Given the description of an element on the screen output the (x, y) to click on. 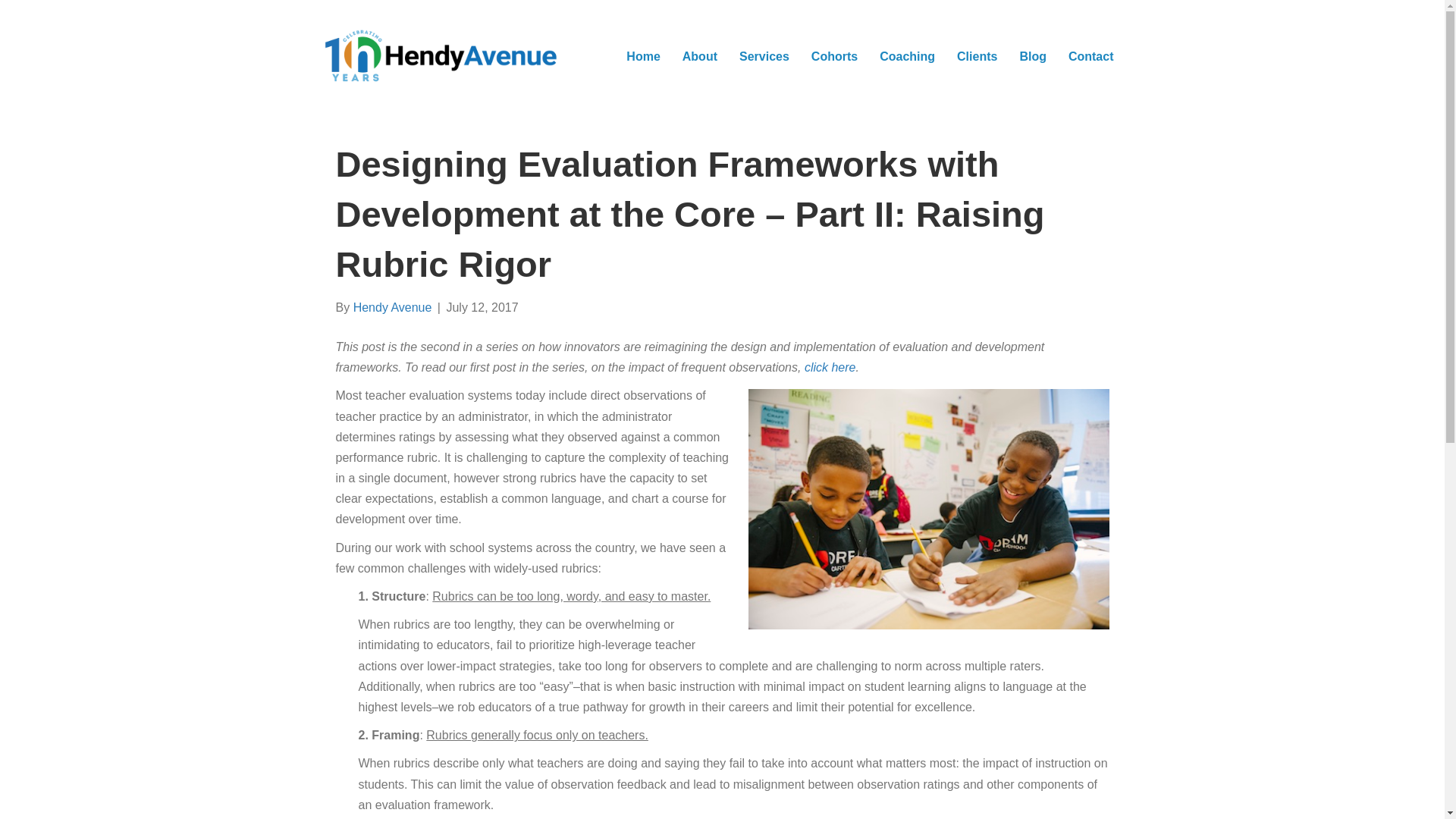
Clients (976, 56)
Home (642, 56)
Services (764, 56)
About (699, 56)
Coaching (906, 56)
click here (830, 367)
Contact (1091, 56)
Blog (1033, 56)
Hendy Avenue (392, 307)
Cohorts (833, 56)
